Given the description of an element on the screen output the (x, y) to click on. 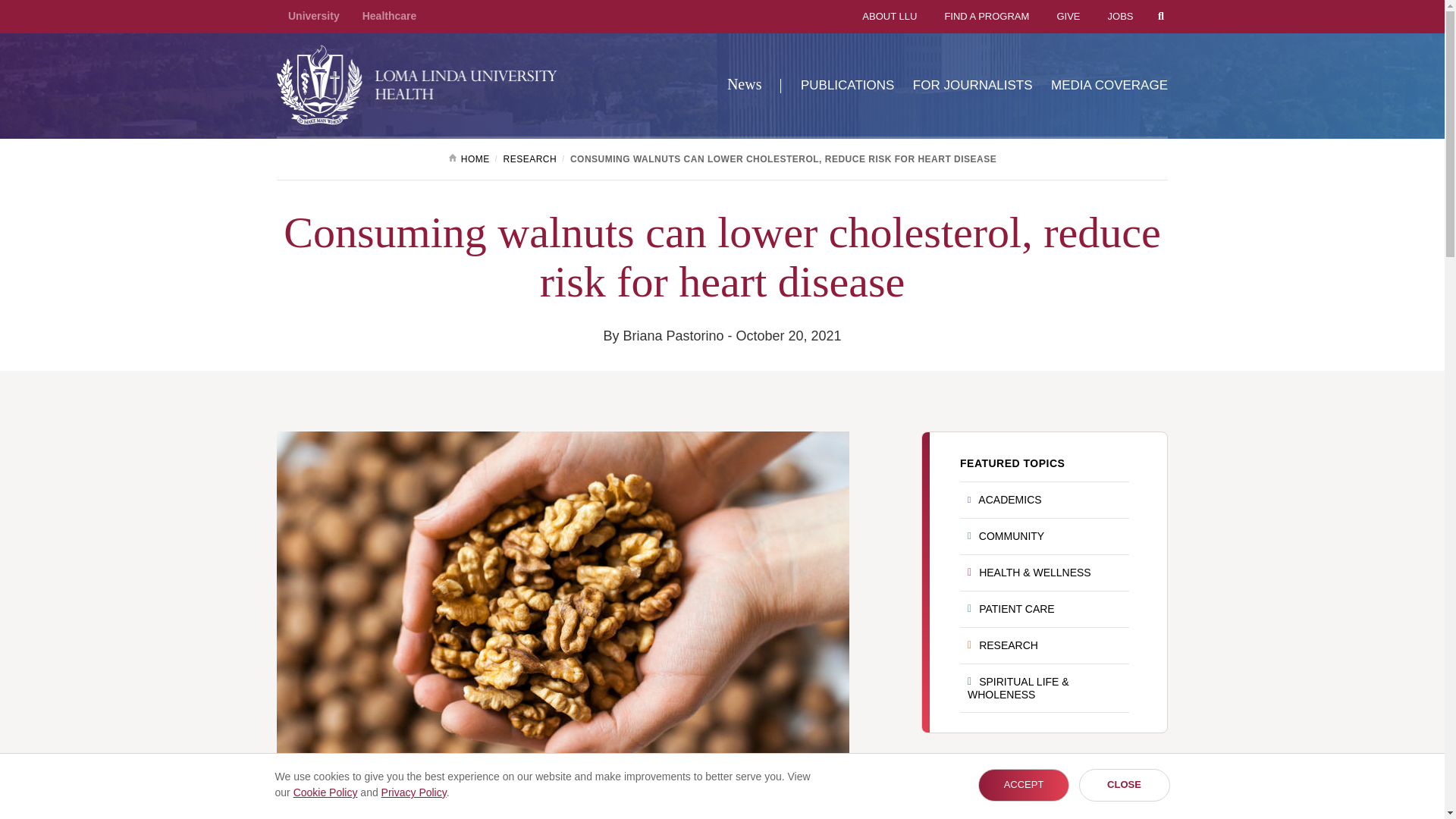
PATIENT CARE (1044, 609)
News (747, 84)
ACADEMICS (1044, 499)
Facebook (291, 818)
PUBLICATIONS (839, 85)
JOBS (1108, 16)
HOME (473, 159)
GIVE (1056, 16)
RESEARCH (1044, 646)
